Given the description of an element on the screen output the (x, y) to click on. 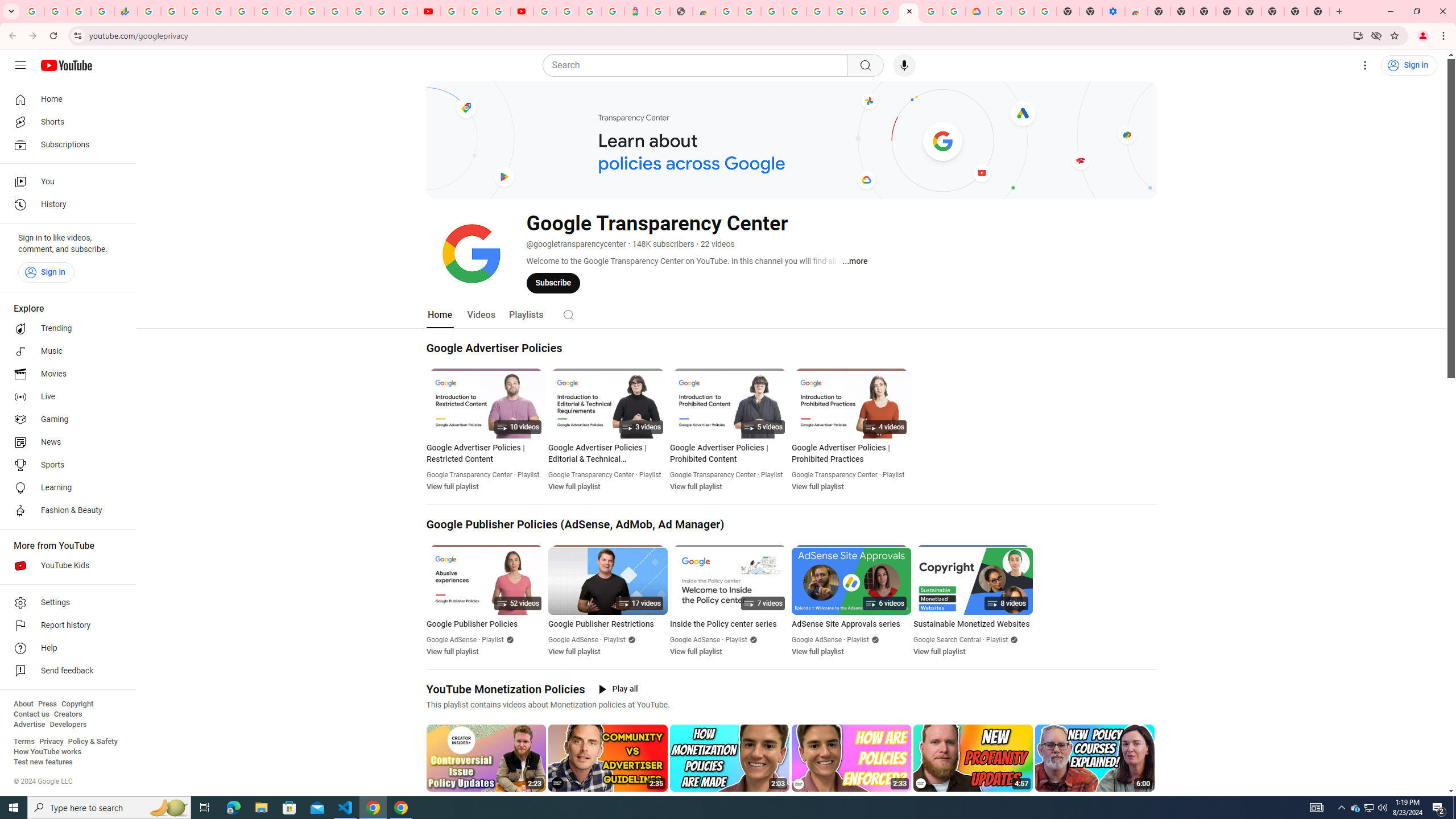
Settings - Accessibility (1113, 11)
New Tab (1158, 11)
Sign in - Google Accounts (999, 11)
Movies (64, 373)
Subscriptions (64, 144)
Policy & Safety (91, 741)
Fashion & Beauty (64, 510)
Learning (64, 487)
Google Transparency Center (833, 474)
Help (64, 648)
You (1422, 35)
Settings (64, 602)
